Given the description of an element on the screen output the (x, y) to click on. 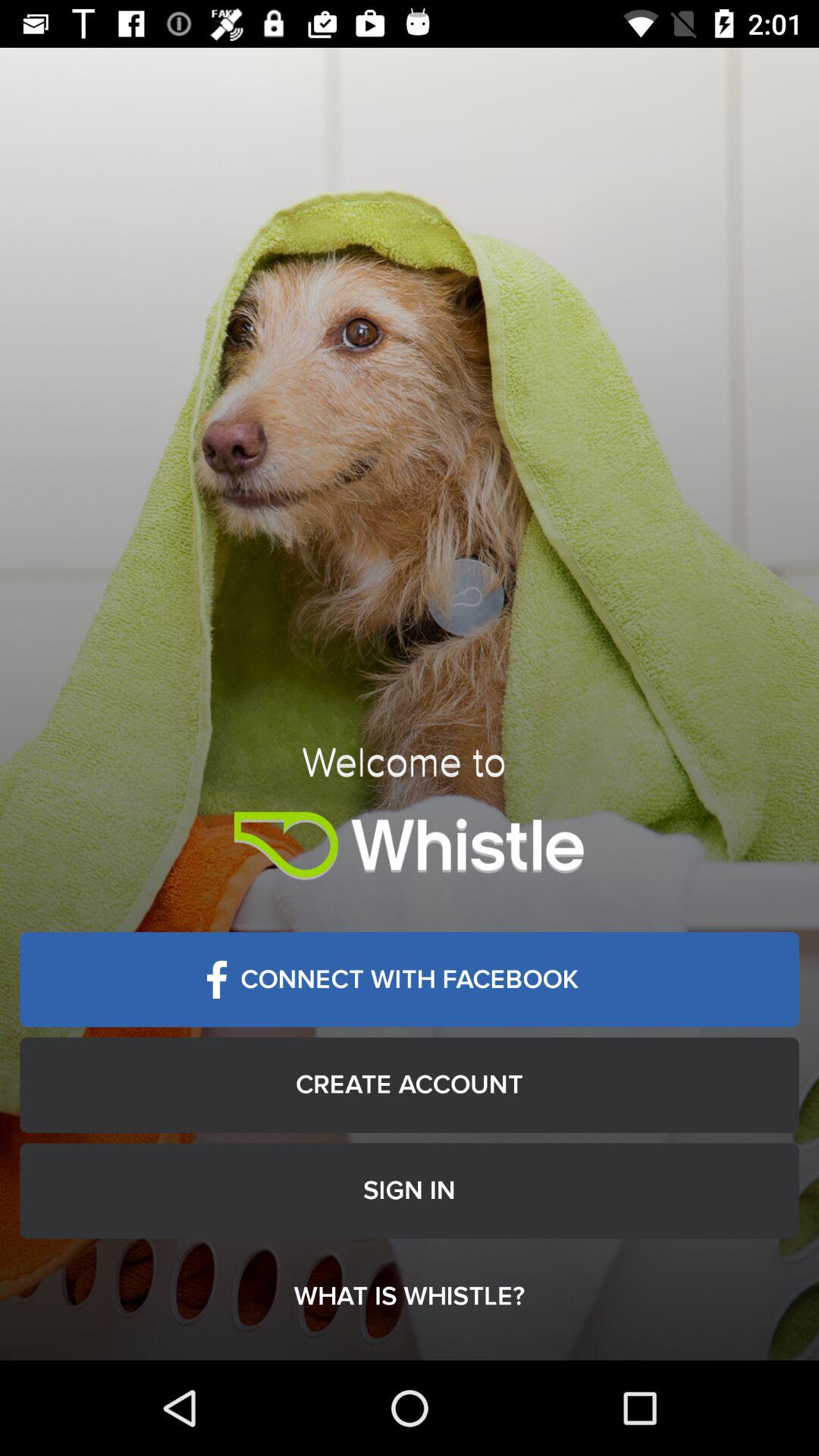
flip until sign in icon (409, 1190)
